Given the description of an element on the screen output the (x, y) to click on. 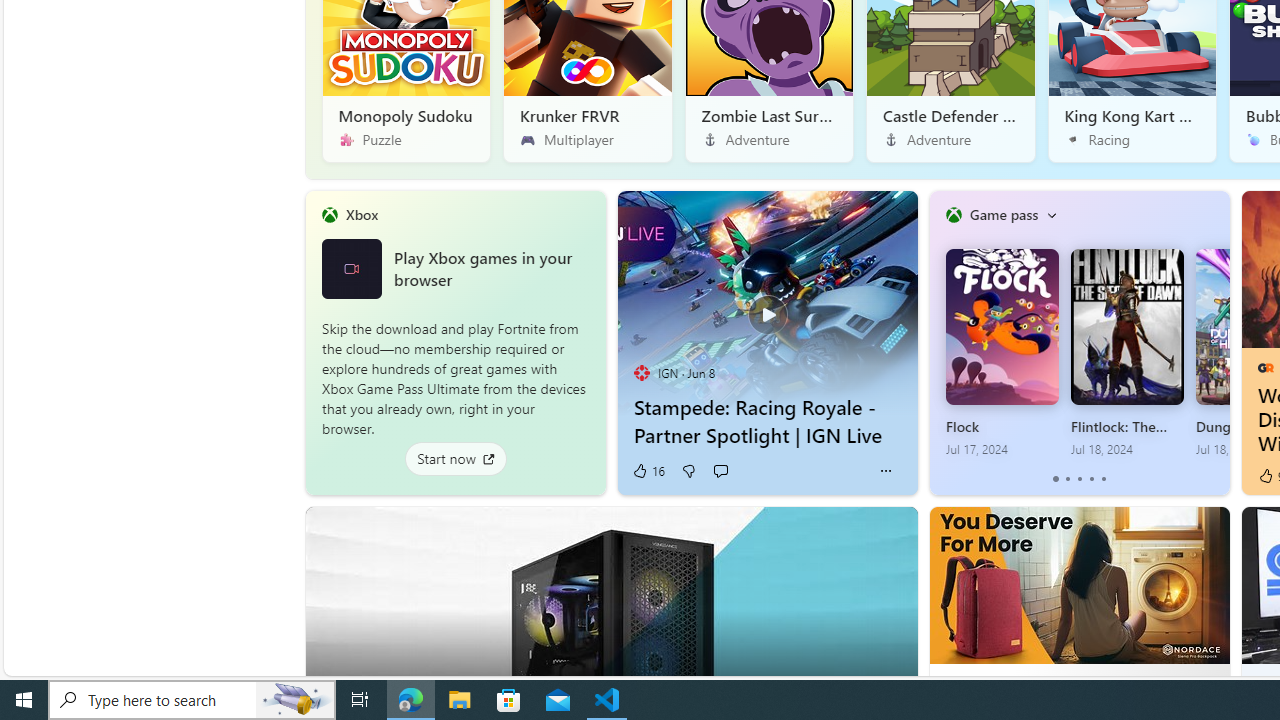
Xbox Logo (351, 268)
tab-0 (1055, 479)
IGN (641, 372)
Game pass (1003, 214)
16 Like (648, 471)
tab-3 (1091, 479)
tab-4 (1102, 479)
tab-1 (1067, 479)
Select Category (1051, 214)
